Given the description of an element on the screen output the (x, y) to click on. 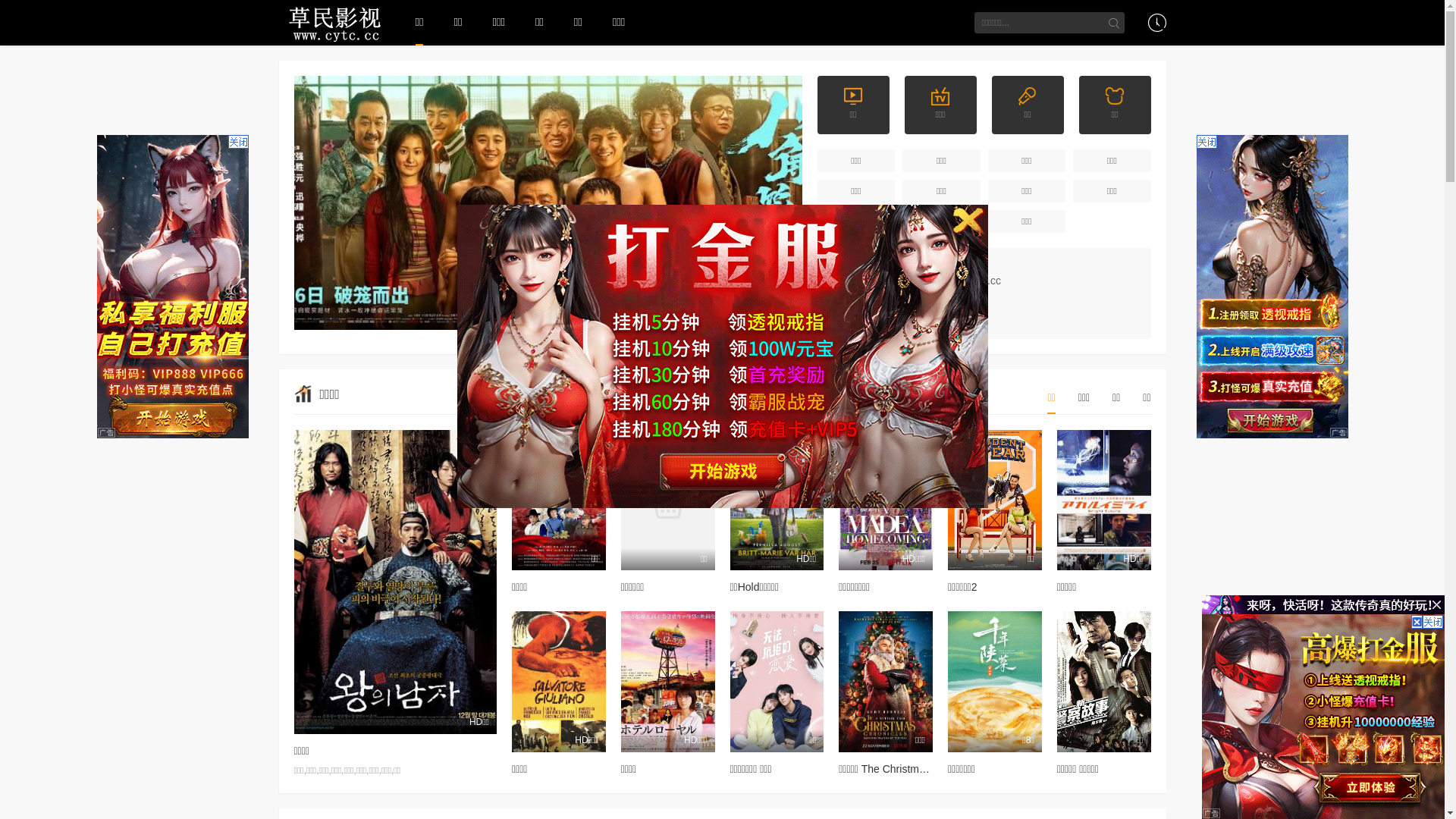
Back Element type: text (727, 351)
